Given the description of an element on the screen output the (x, y) to click on. 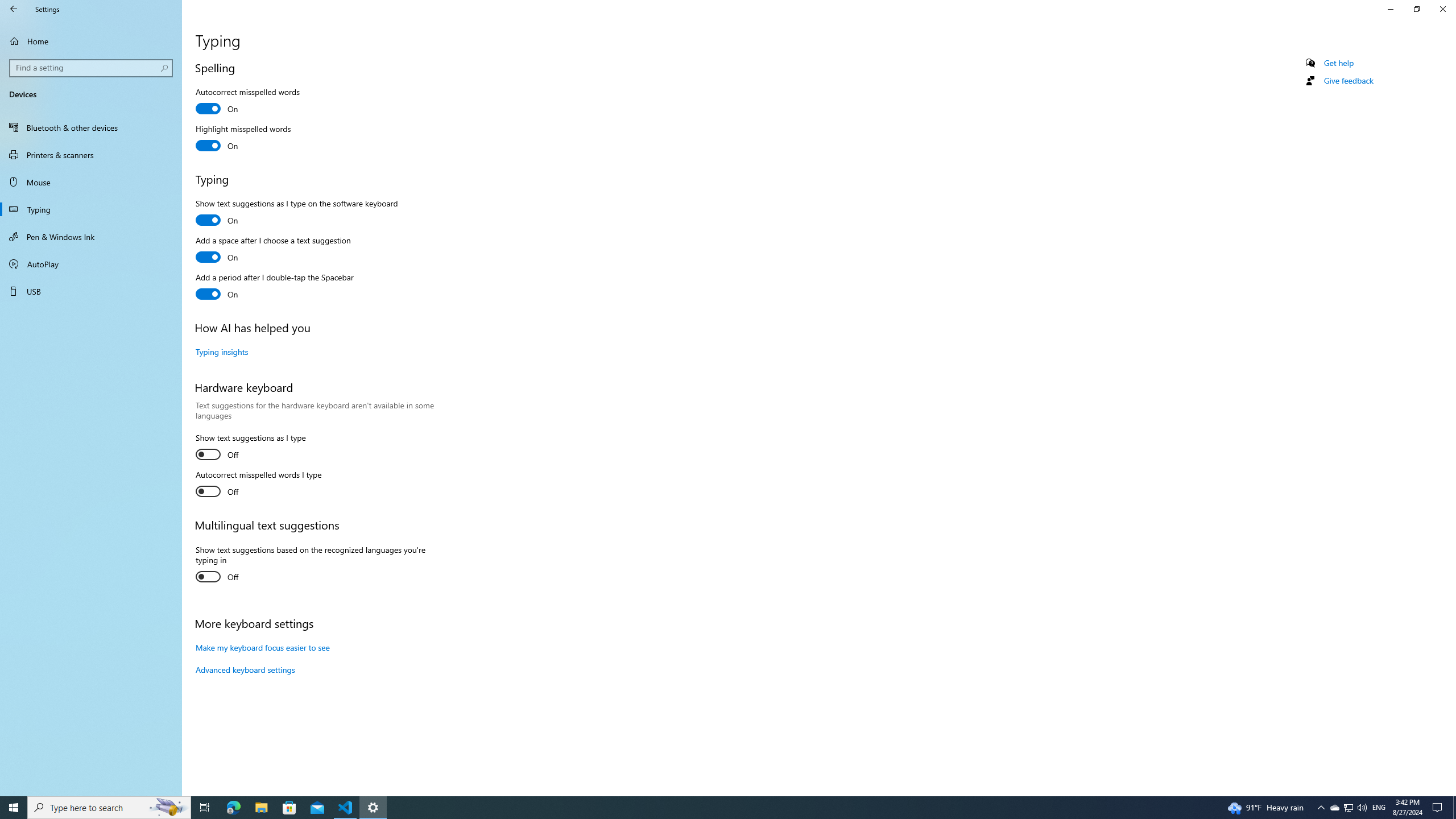
Back (13, 9)
Search box, Find a setting (91, 67)
Minimize Settings (1390, 9)
Home (91, 40)
Autocorrect misspelled words (247, 101)
Bluetooth & other devices (91, 126)
Mouse (91, 181)
Running applications (706, 807)
